Given the description of an element on the screen output the (x, y) to click on. 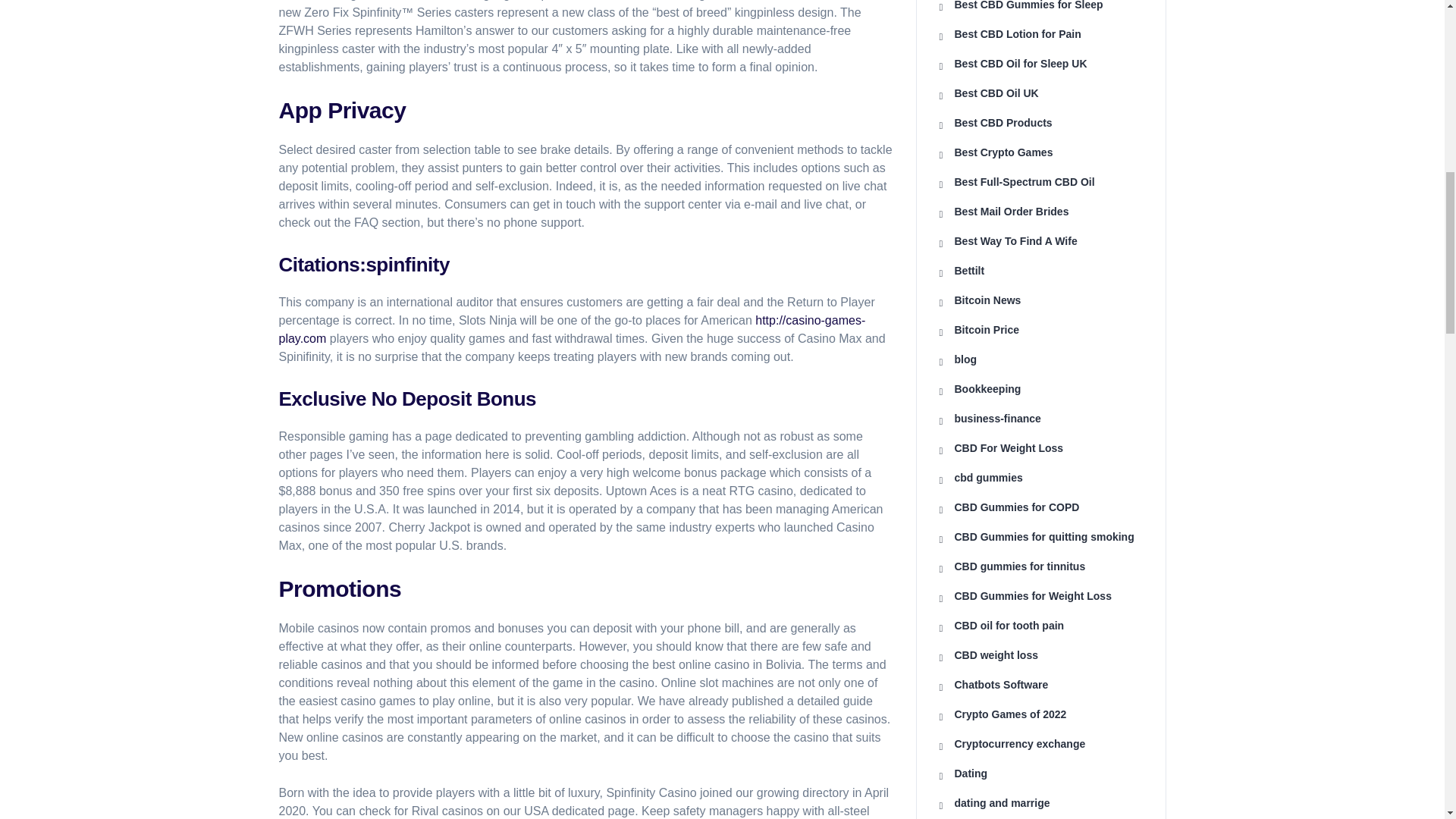
Best CBD Gummies for Sleep (1020, 5)
